Given the description of an element on the screen output the (x, y) to click on. 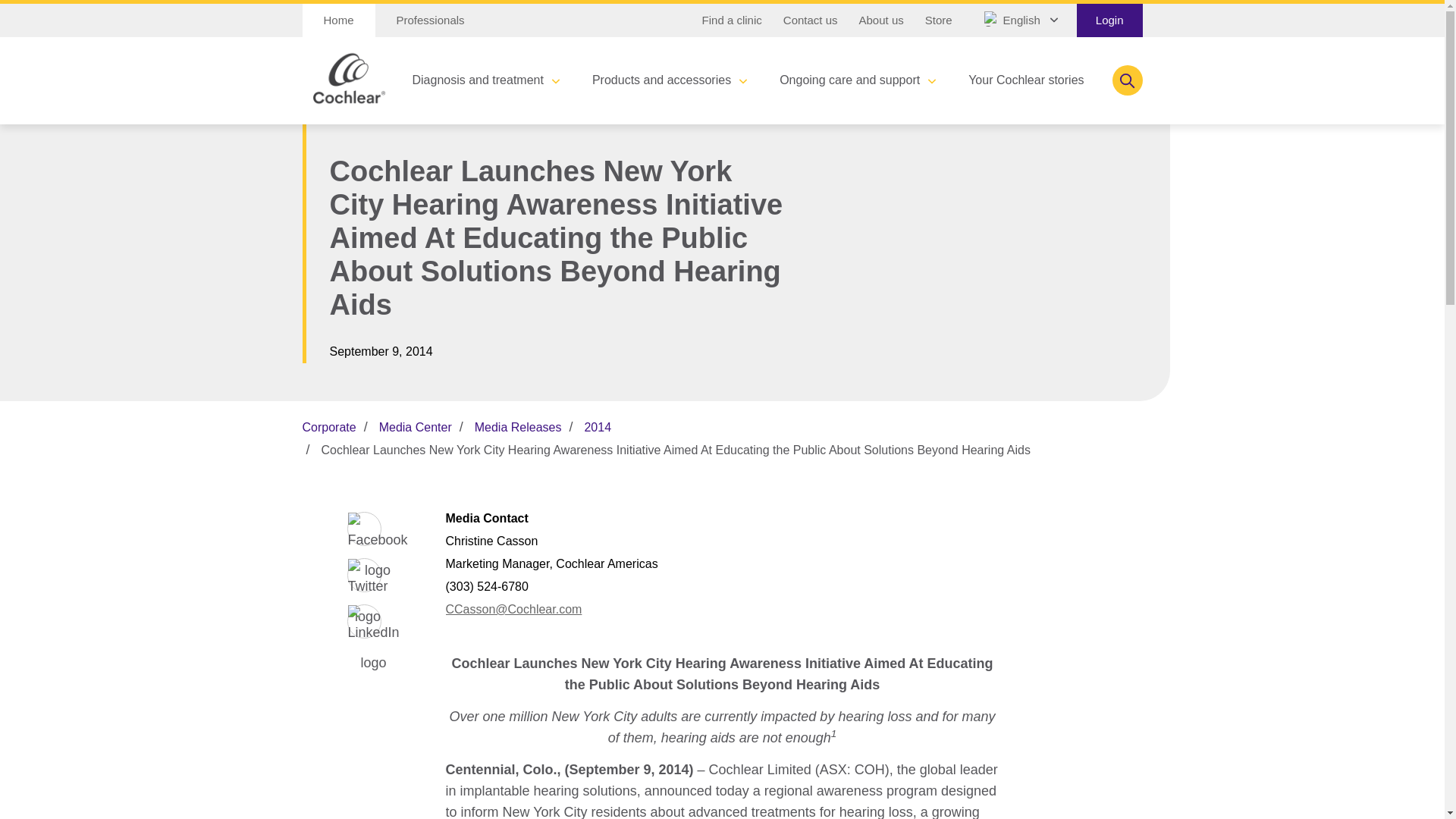
Your Cochlear stories (1033, 79)
Contact us (810, 20)
English (1019, 20)
Ongoing care and support (857, 79)
Media Center (414, 427)
Professionals (430, 20)
2014 (597, 427)
Store (938, 20)
Home (337, 20)
Media Releases (518, 427)
Diagnosis and treatment (485, 79)
Go to Cochlear's Home page (337, 20)
About us (881, 20)
Corporate (328, 427)
Login (1109, 20)
